Given the description of an element on the screen output the (x, y) to click on. 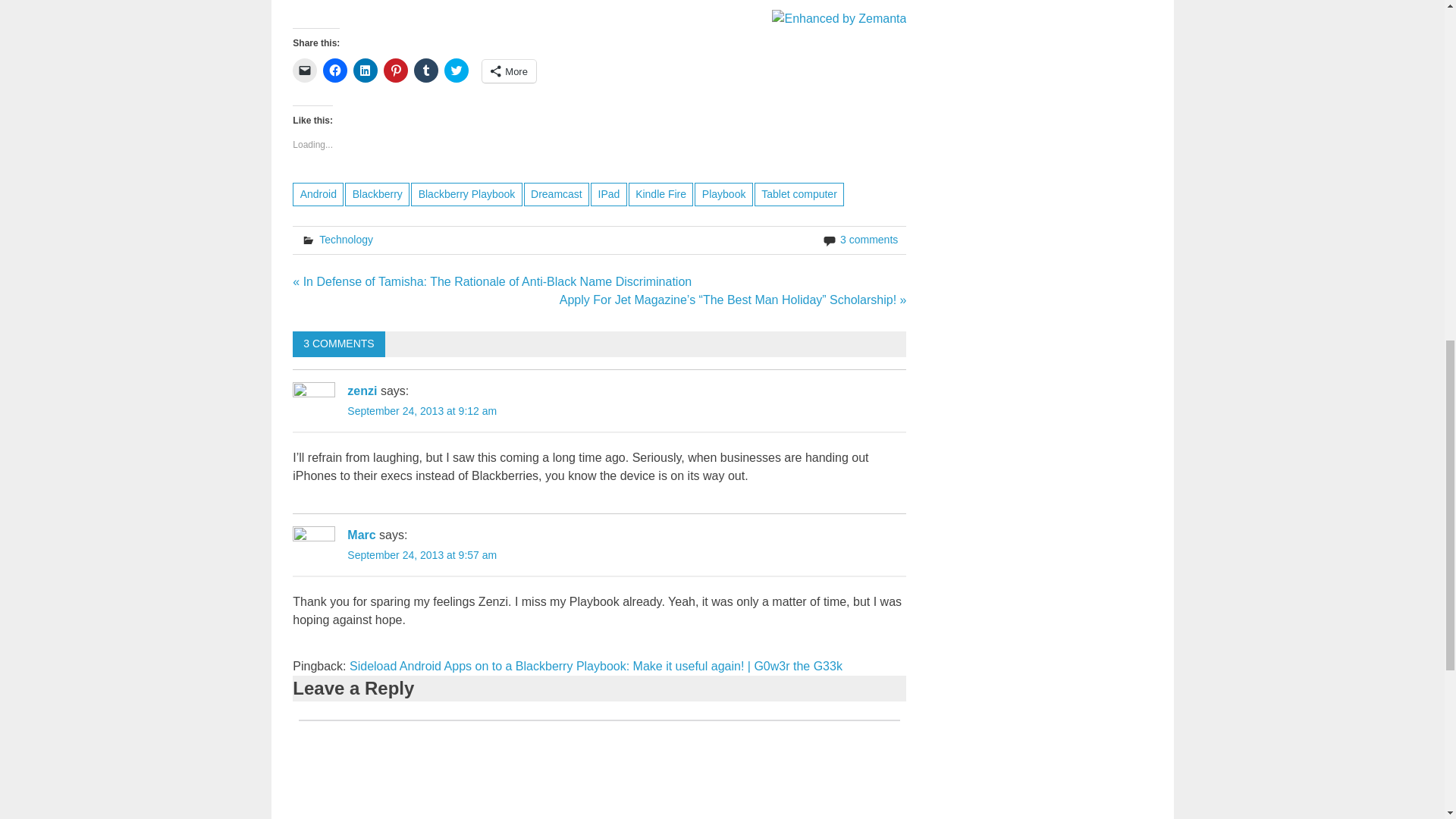
Blackberry (377, 194)
Android (317, 194)
Click to share on Facebook (335, 70)
IPad (609, 194)
Dreamcast (556, 194)
Kindle Fire (661, 194)
Click to share on Pinterest (395, 70)
More (508, 70)
Blackberry Playbook (465, 194)
Click to share on Twitter (456, 70)
